Given the description of an element on the screen output the (x, y) to click on. 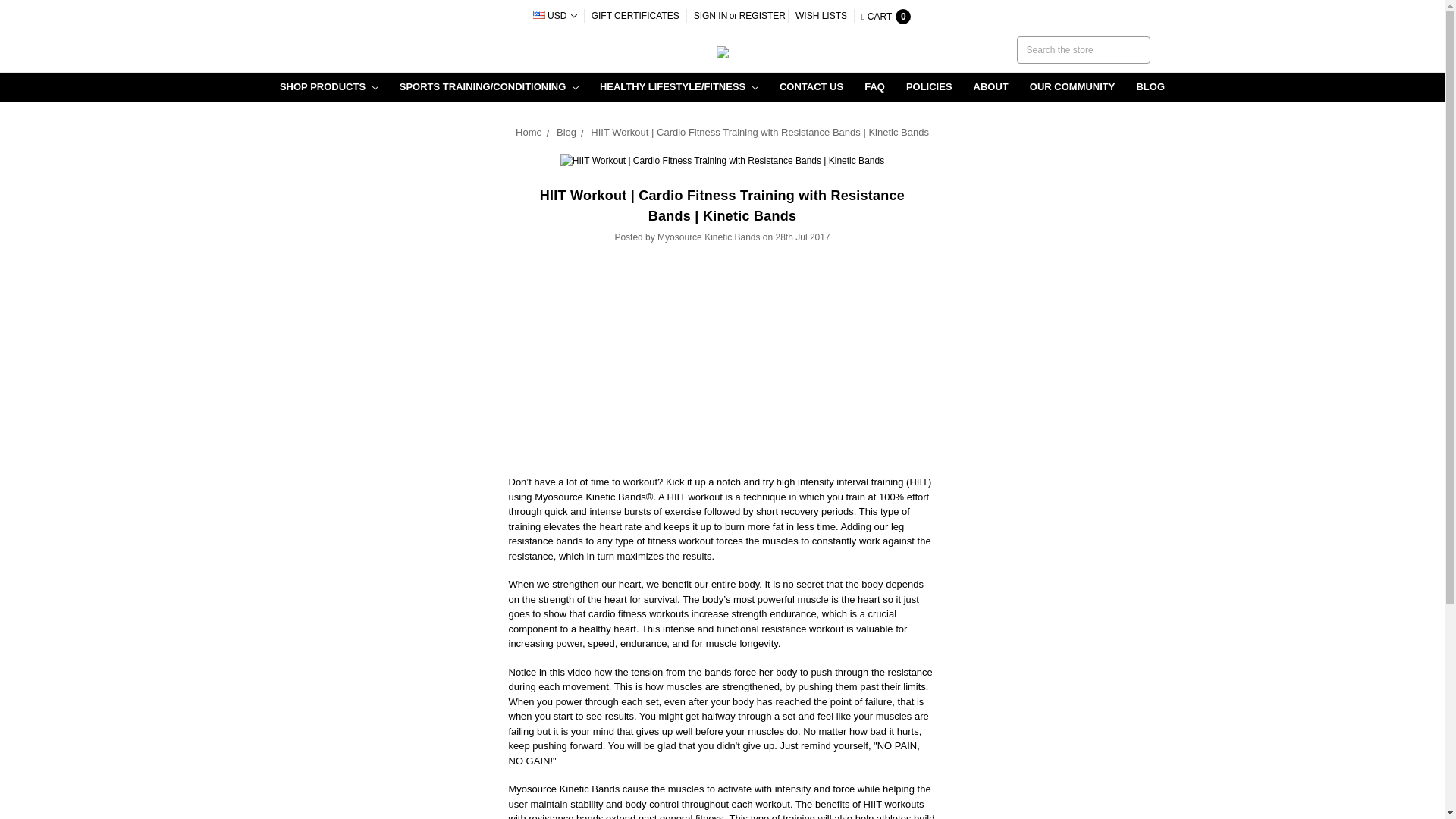
Myosource Kinetic Bands (722, 51)
REGISTER (762, 15)
GIFT CERTIFICATES (635, 15)
USD (554, 15)
WISH LISTS (821, 15)
SIGN IN (711, 15)
CART 0 (885, 16)
SHOP PRODUCTS (328, 86)
